Given the description of an element on the screen output the (x, y) to click on. 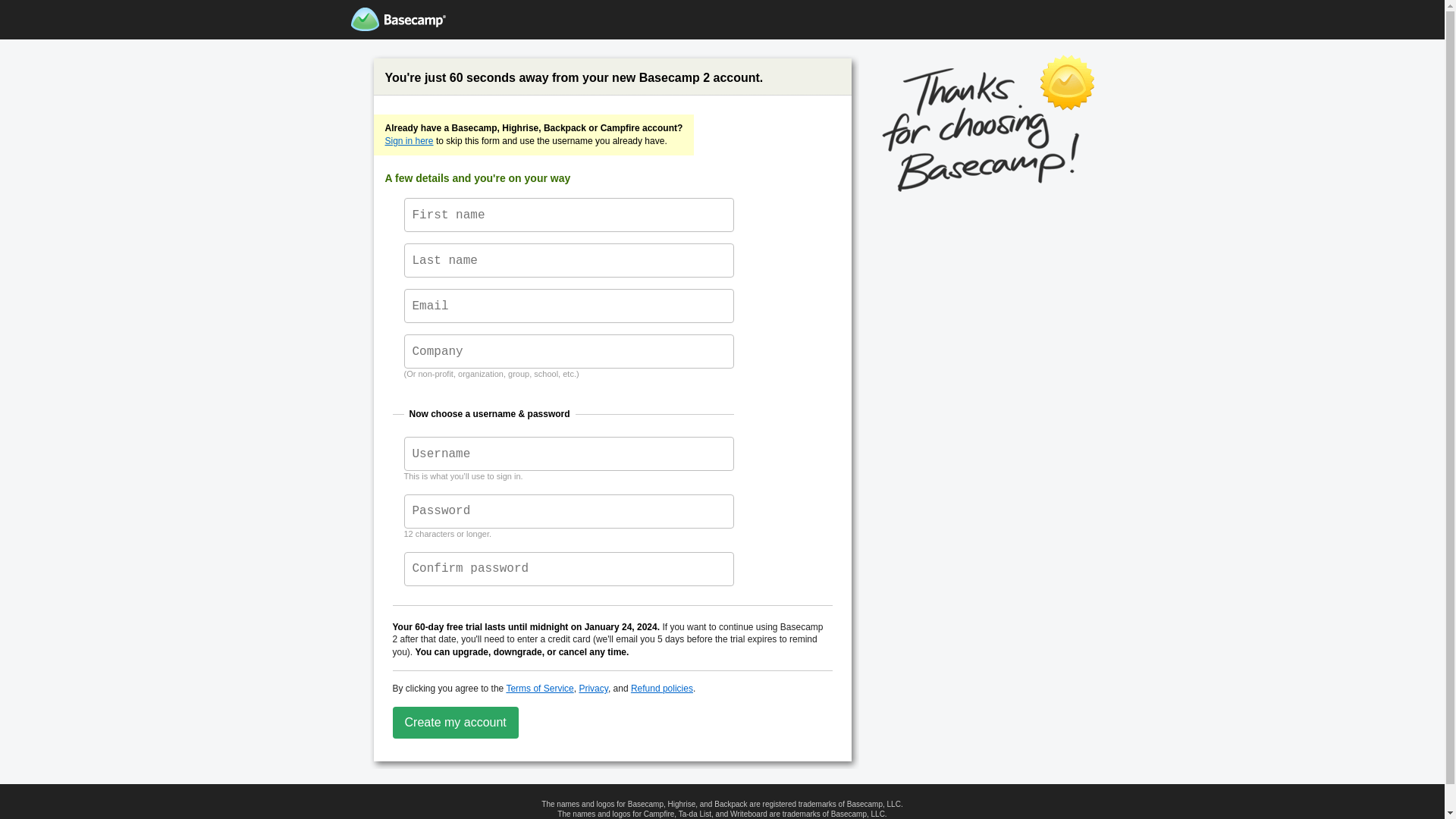
Refund policies Element type: text (661, 688)
Privacy Element type: text (592, 688)
Terms of Service Element type: text (539, 688)
Sign in here Element type: text (409, 140)
Create my account Element type: text (455, 722)
